Given the description of an element on the screen output the (x, y) to click on. 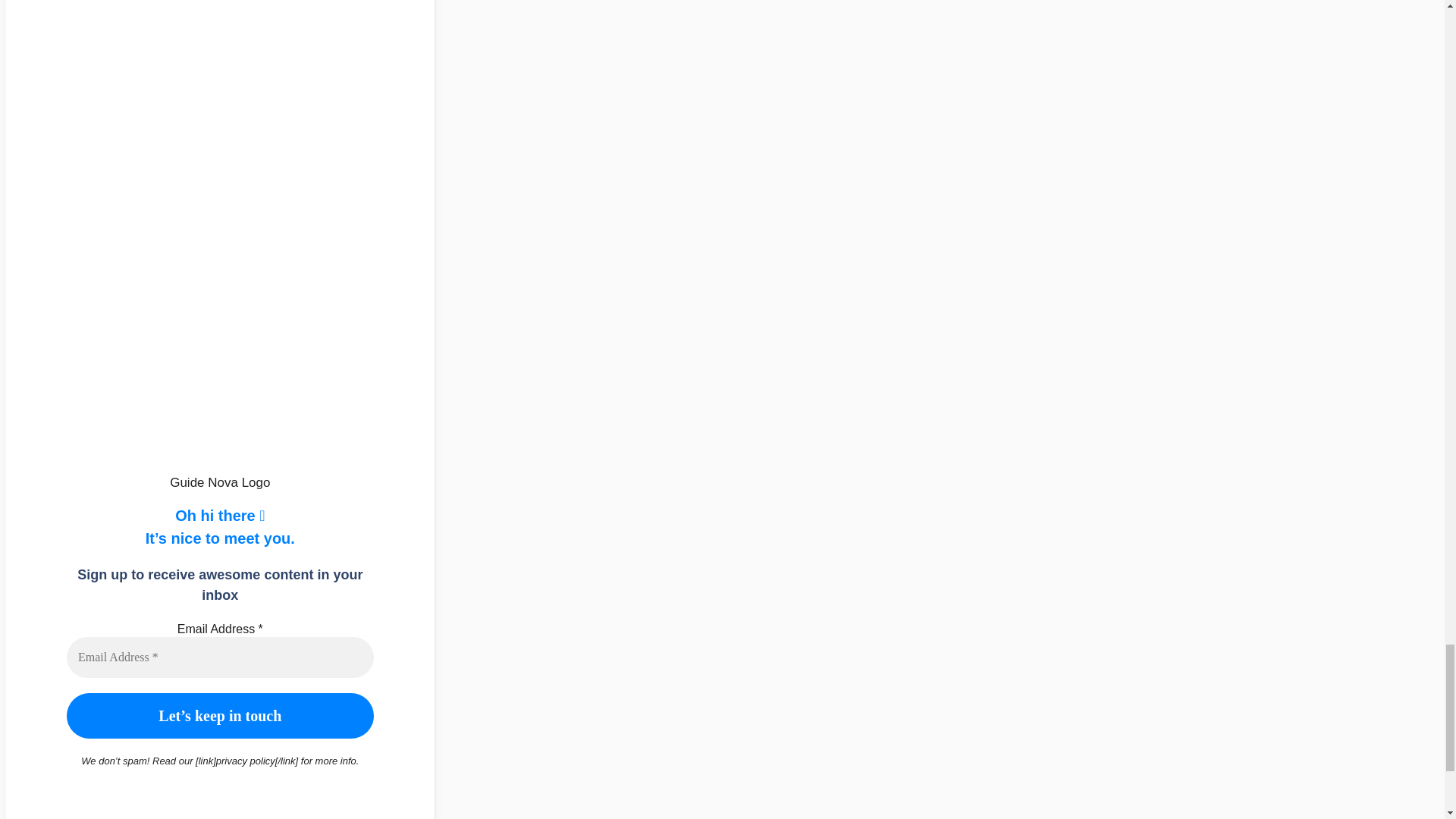
Email Address (220, 657)
